Given the description of an element on the screen output the (x, y) to click on. 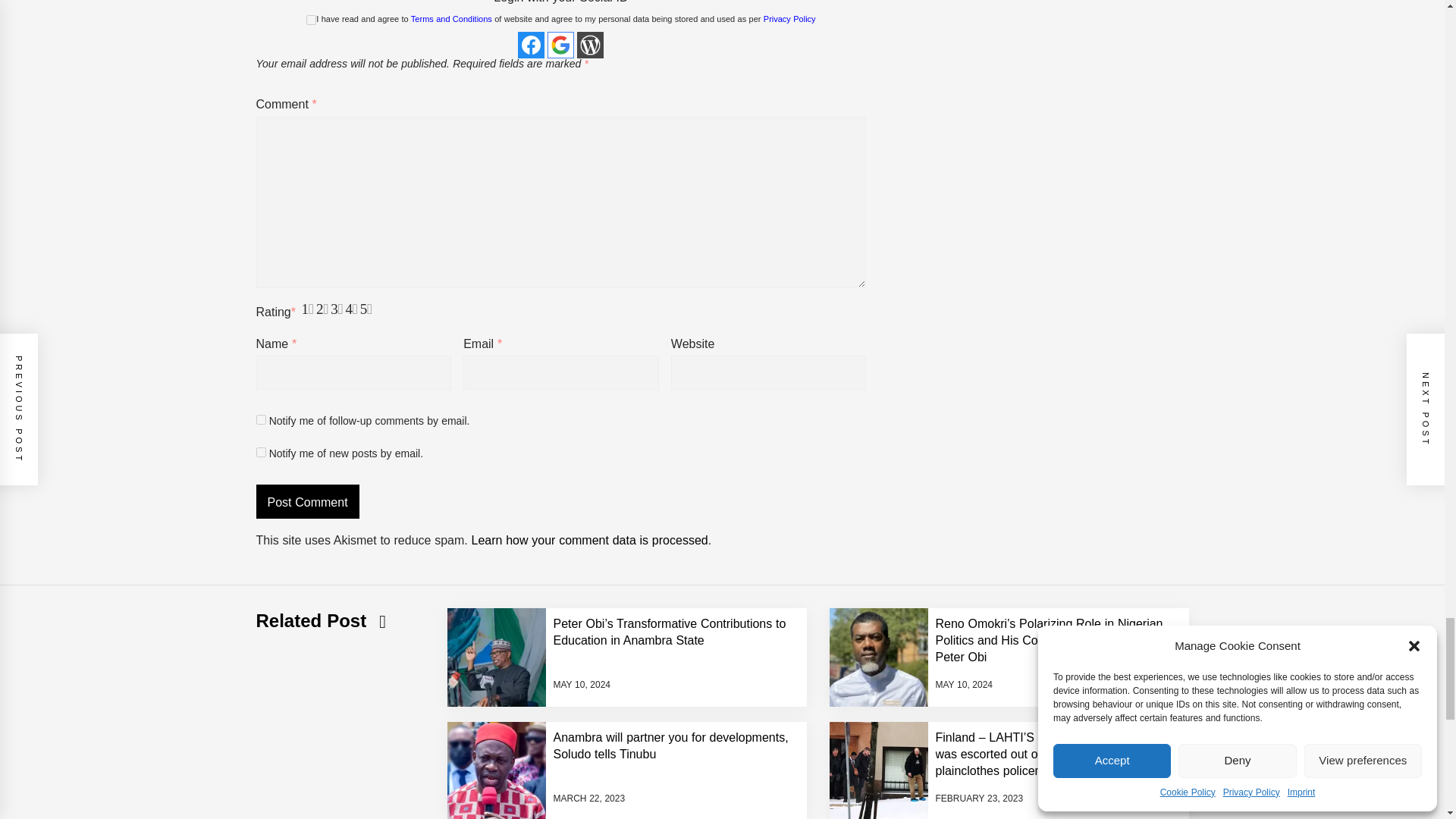
subscribe (261, 419)
subscribe (261, 452)
Post Comment (307, 501)
1 (310, 20)
